Given the description of an element on the screen output the (x, y) to click on. 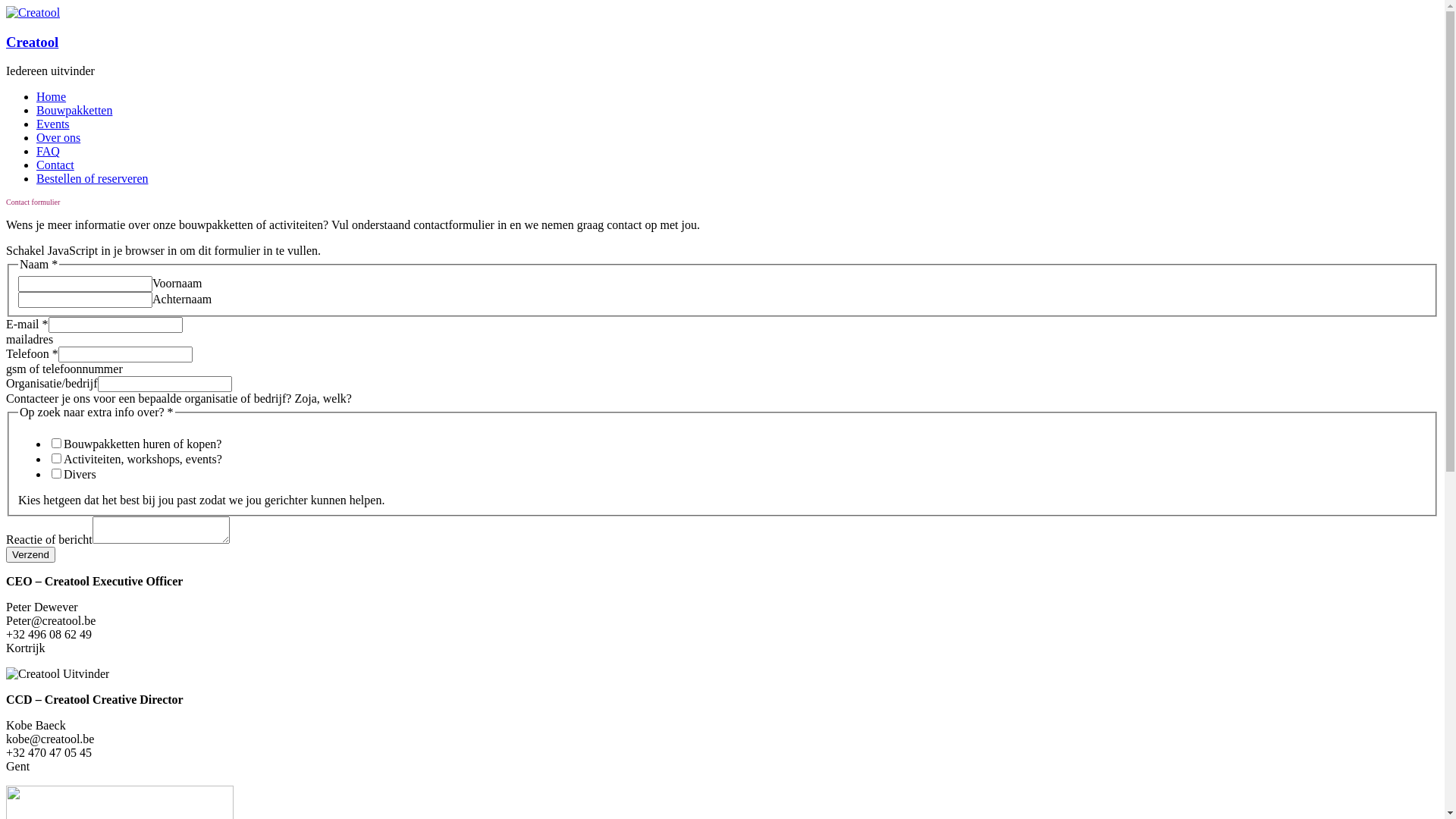
Verzend Element type: text (30, 554)
Bestellen of reserveren Element type: text (91, 178)
Creatool Element type: text (32, 42)
Bouwpakketten Element type: text (74, 109)
Contact Element type: text (55, 164)
Events Element type: text (52, 123)
Over ons Element type: text (58, 137)
Home Element type: text (50, 96)
FAQ Element type: text (47, 150)
